Given the description of an element on the screen output the (x, y) to click on. 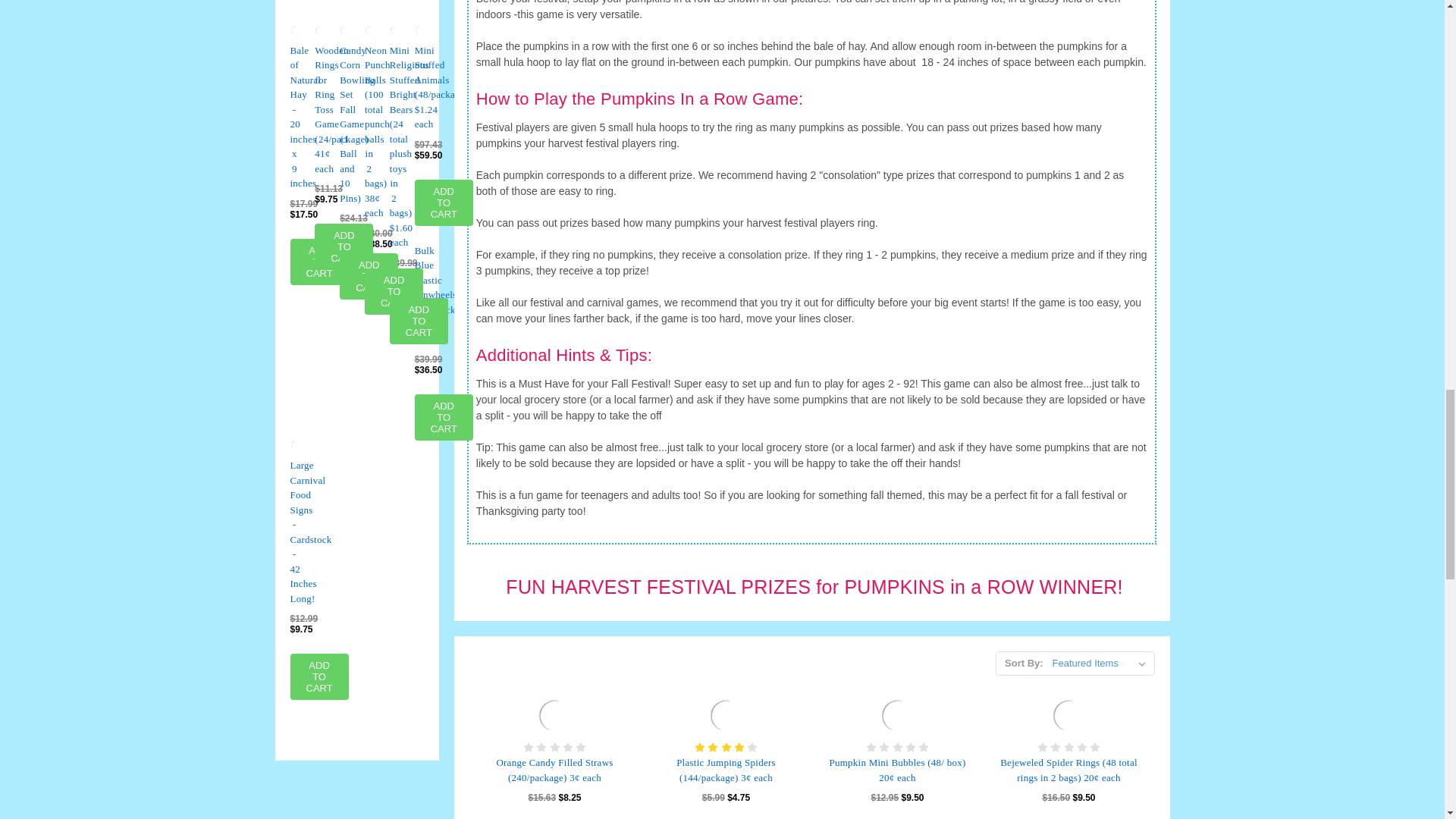
Bulk Blue Plastic Pinwheels (418, 230)
Mini Stuffed Animals - Carnival Toys - Wholesale  (418, 30)
Wood Rings for Ring Toss Games (318, 30)
Christian Stuffed Animal Bear Small Toy (394, 30)
Fall Festival Game - Candy Corn Bowling (344, 30)
Neon Punch balls - Wholesale Carnival Prize (369, 30)
Natural Bale of Hay (293, 30)
